Given the description of an element on the screen output the (x, y) to click on. 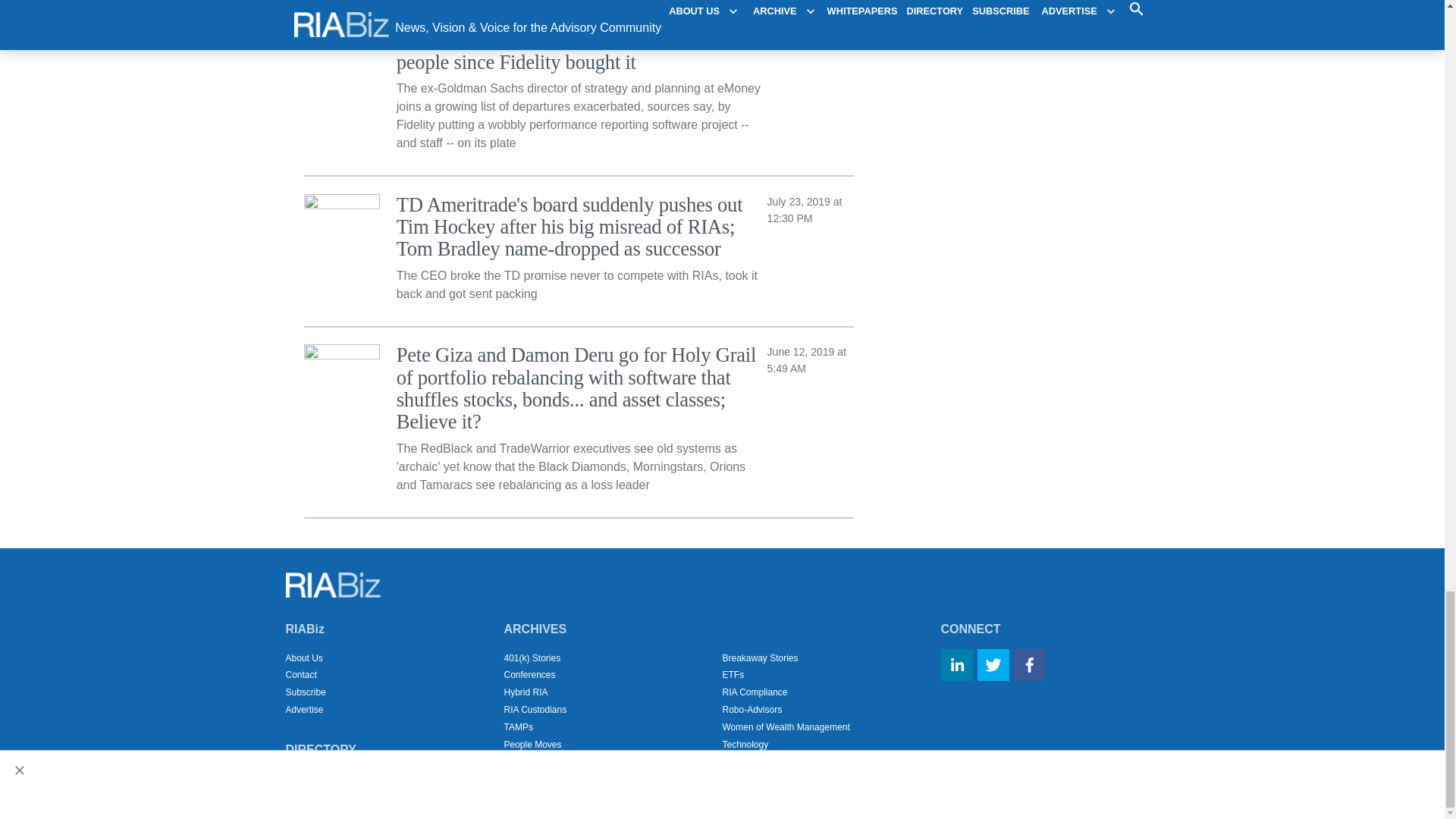
Contact (300, 674)
DIRECTORY (320, 748)
Subscribe (304, 692)
About Us (303, 657)
Advertise (304, 709)
